Given the description of an element on the screen output the (x, y) to click on. 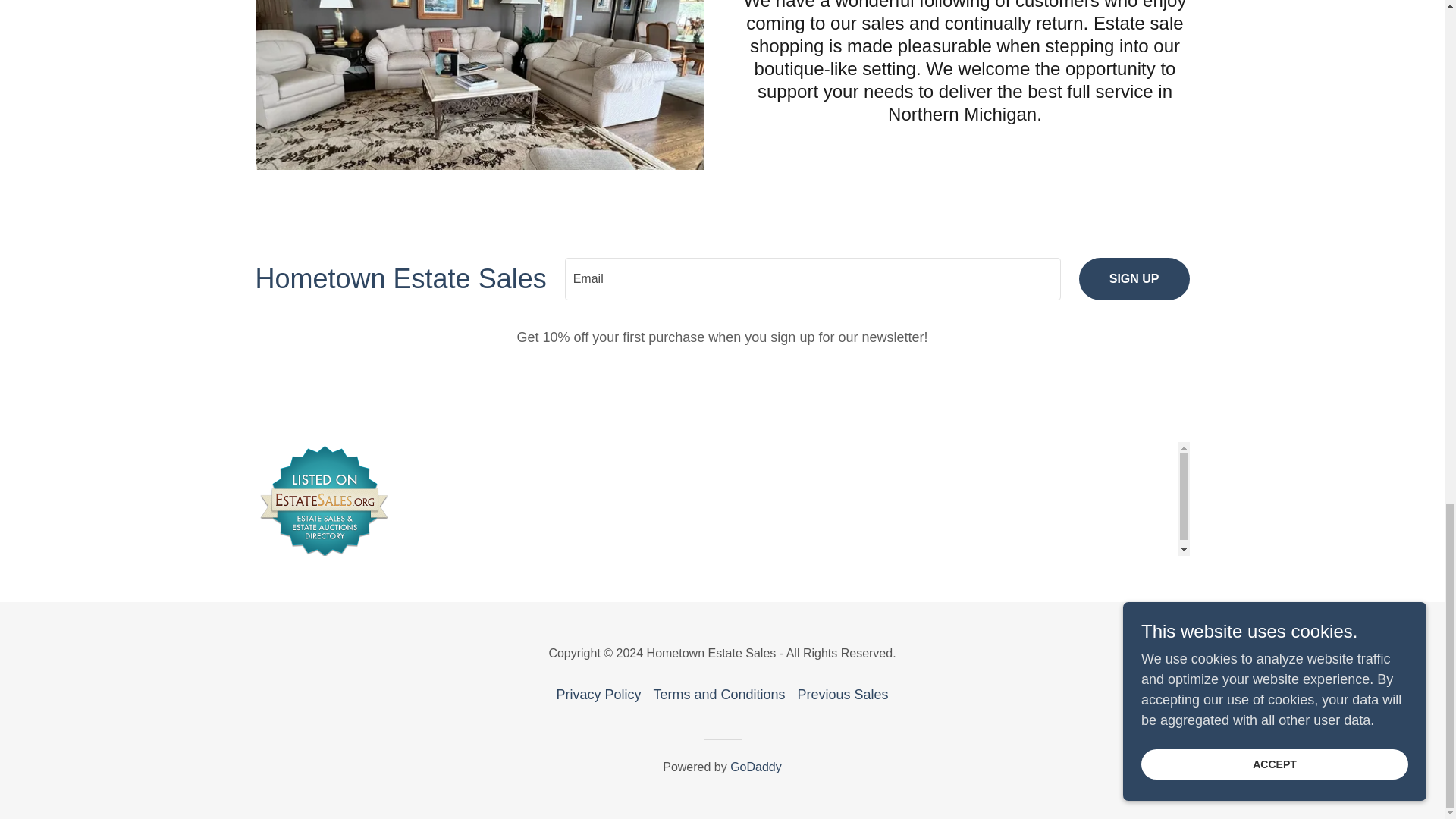
Privacy Policy (598, 694)
SIGN UP (1133, 278)
GoDaddy (755, 766)
Previous Sales (843, 694)
Terms and Conditions (718, 694)
